Given the description of an element on the screen output the (x, y) to click on. 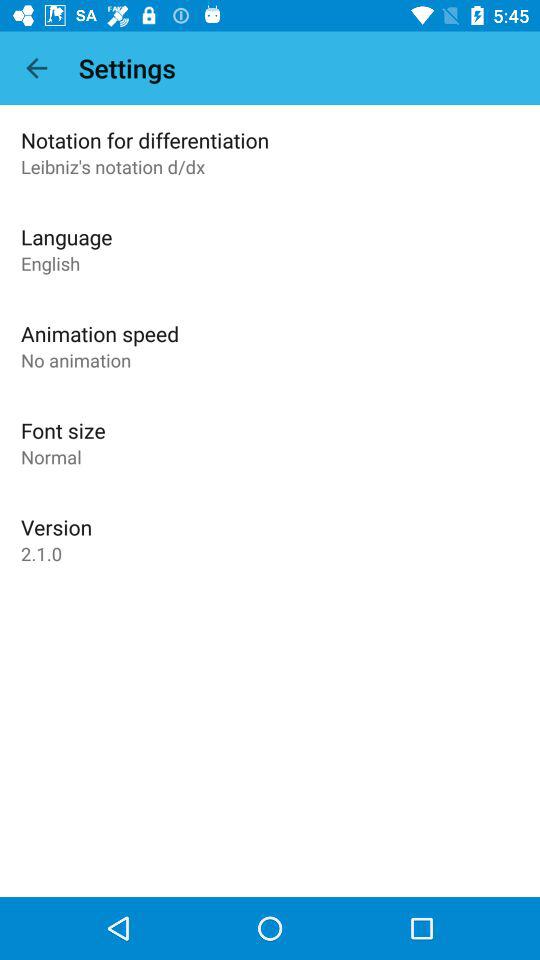
choose app below the no animation icon (63, 430)
